Given the description of an element on the screen output the (x, y) to click on. 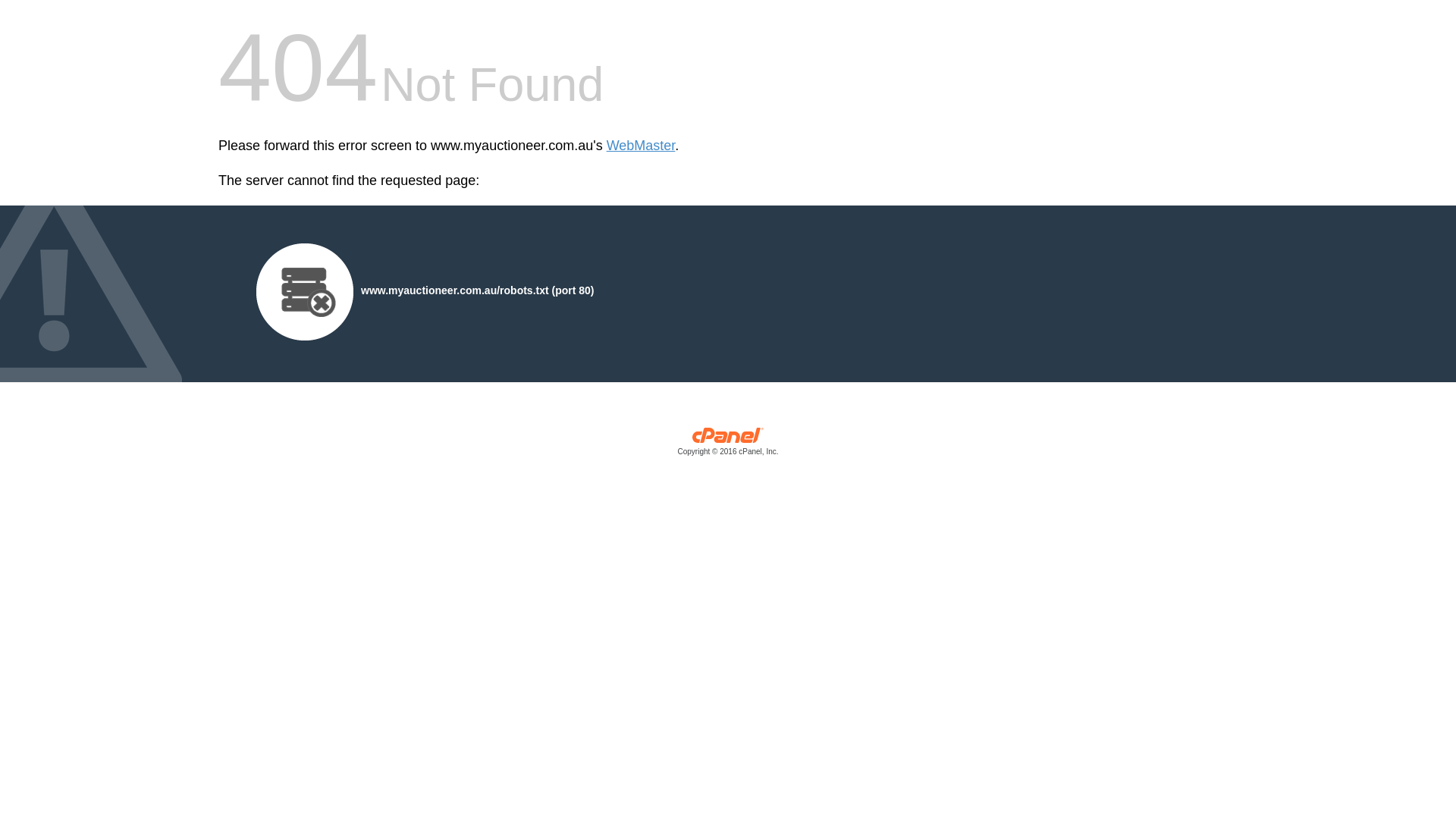
WebMaster Element type: text (640, 145)
